Given the description of an element on the screen output the (x, y) to click on. 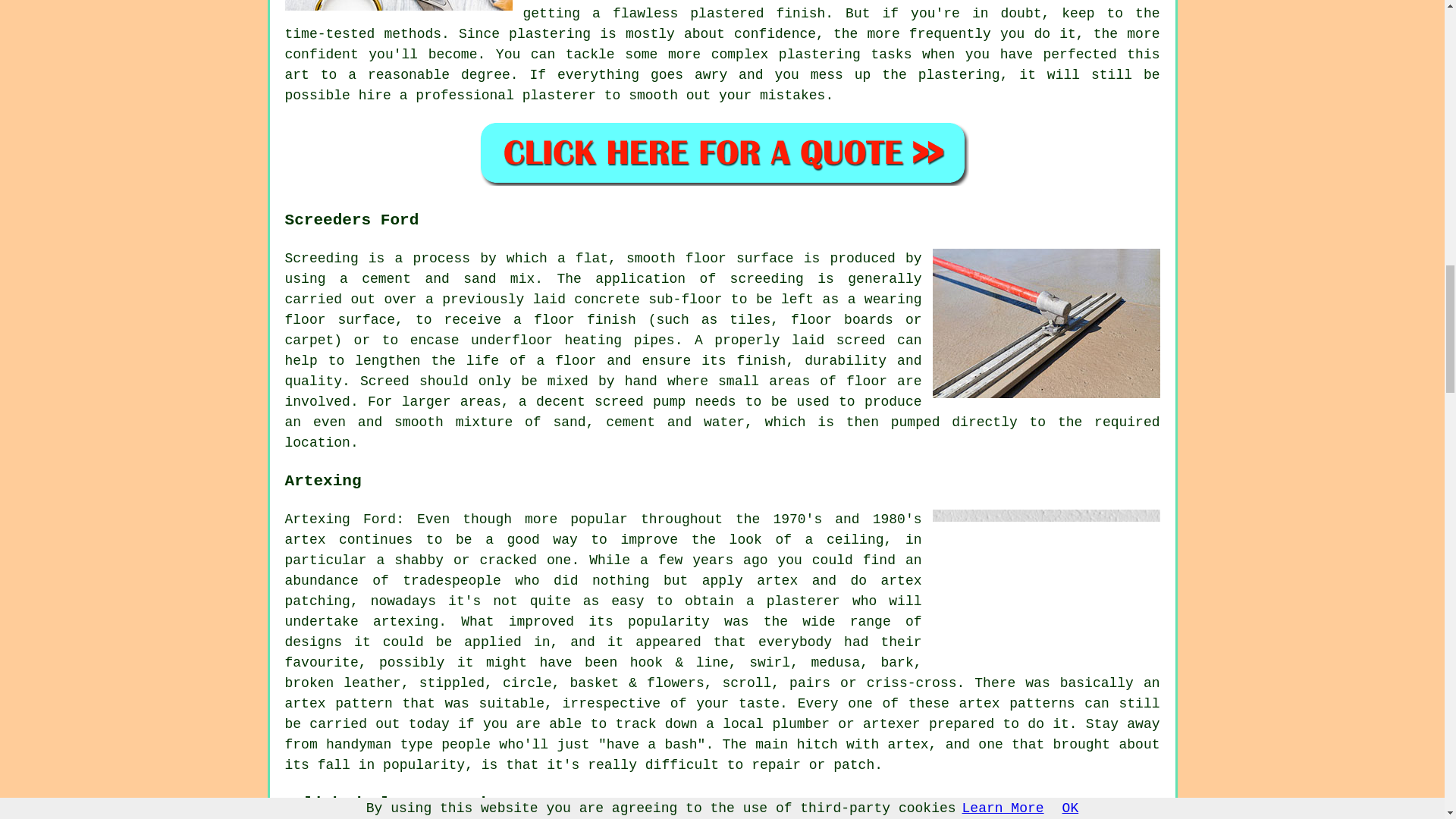
DIY Plastering Ford UK (398, 5)
Screeding Ford (1046, 323)
Artexing Ford West Sussex (1046, 583)
